Given the description of an element on the screen output the (x, y) to click on. 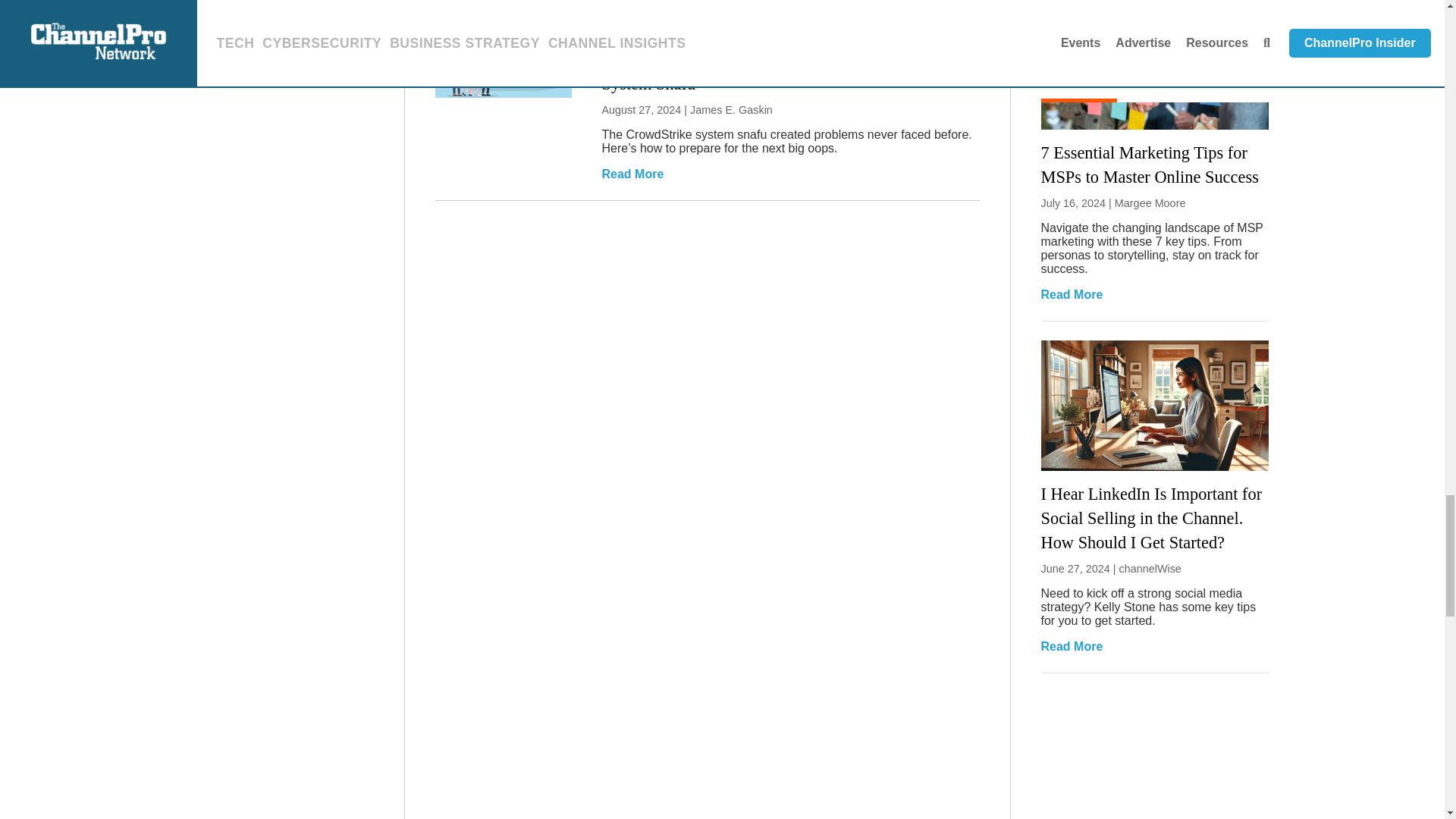
Posts by channelWise (1149, 568)
3rd party ad content (1154, 765)
Posts by James E. Gaskin (731, 110)
